Given the description of an element on the screen output the (x, y) to click on. 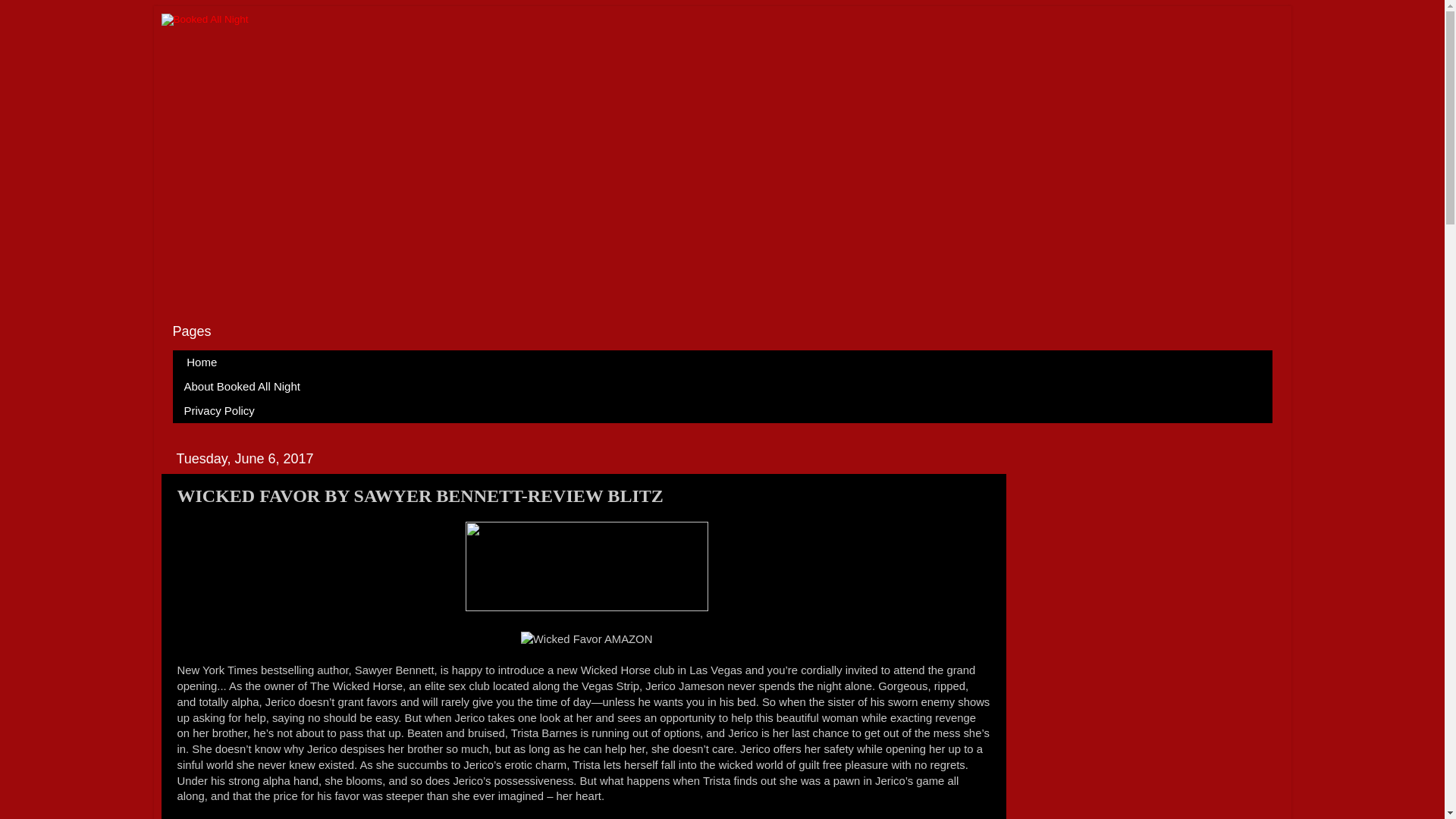
Home (201, 362)
About Booked All Night (243, 386)
Privacy Policy (219, 410)
